Given the description of an element on the screen output the (x, y) to click on. 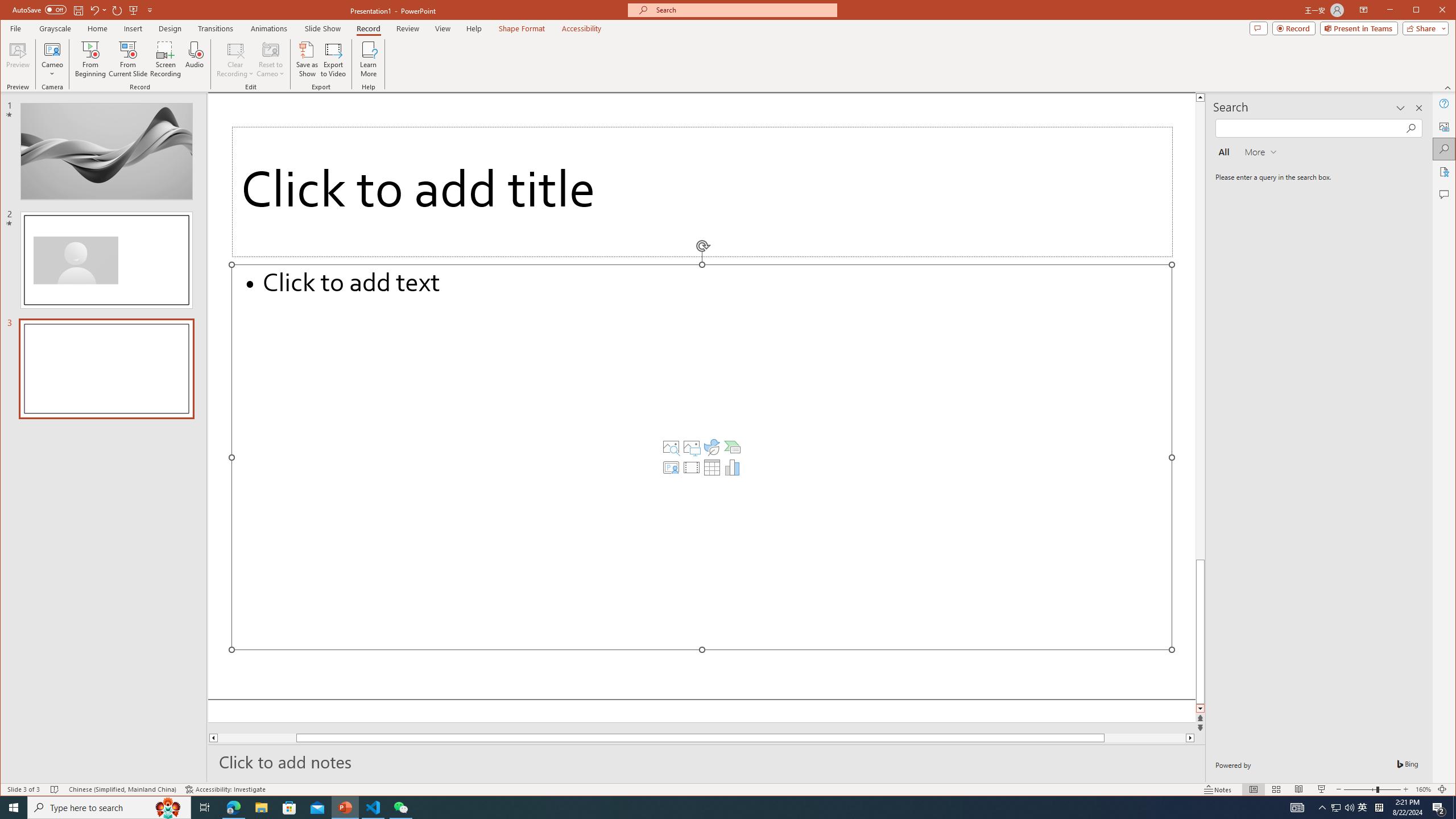
Content Placeholder (701, 457)
